Given the description of an element on the screen output the (x, y) to click on. 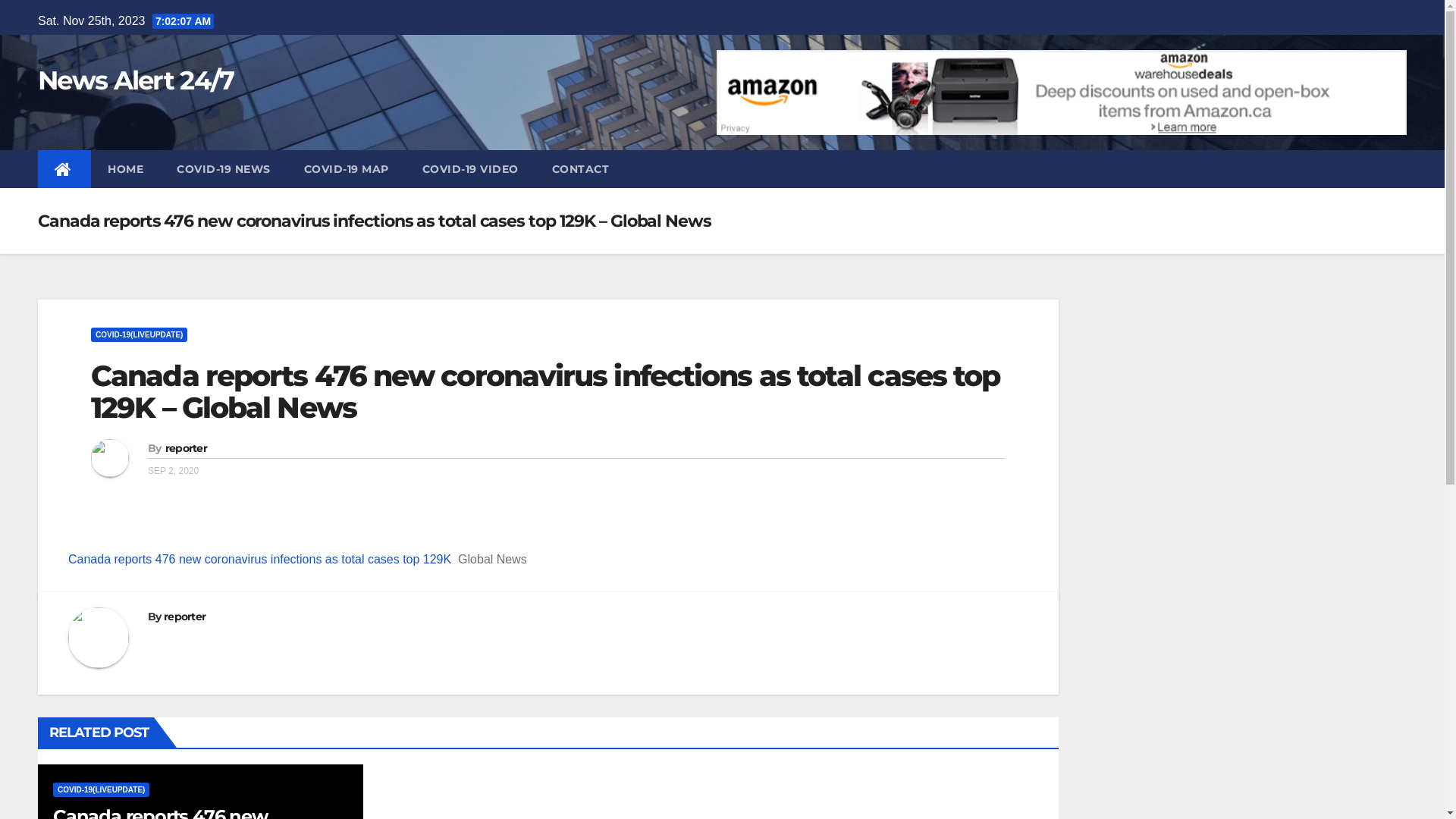
CONTACT Element type: text (580, 169)
Home Element type: hover (64, 169)
COVID-19(LIVEUPDATE) Element type: text (101, 789)
reporter Element type: text (184, 616)
COVID-19 VIDEO Element type: text (469, 169)
HOME Element type: text (125, 169)
COVID-19 NEWS Element type: text (223, 169)
COVID-19(LIVEUPDATE) Element type: text (139, 334)
reporter Element type: text (186, 448)
COVID-19 MAP Element type: text (345, 169)
News Alert 24/7 Element type: text (135, 80)
